Given the description of an element on the screen output the (x, y) to click on. 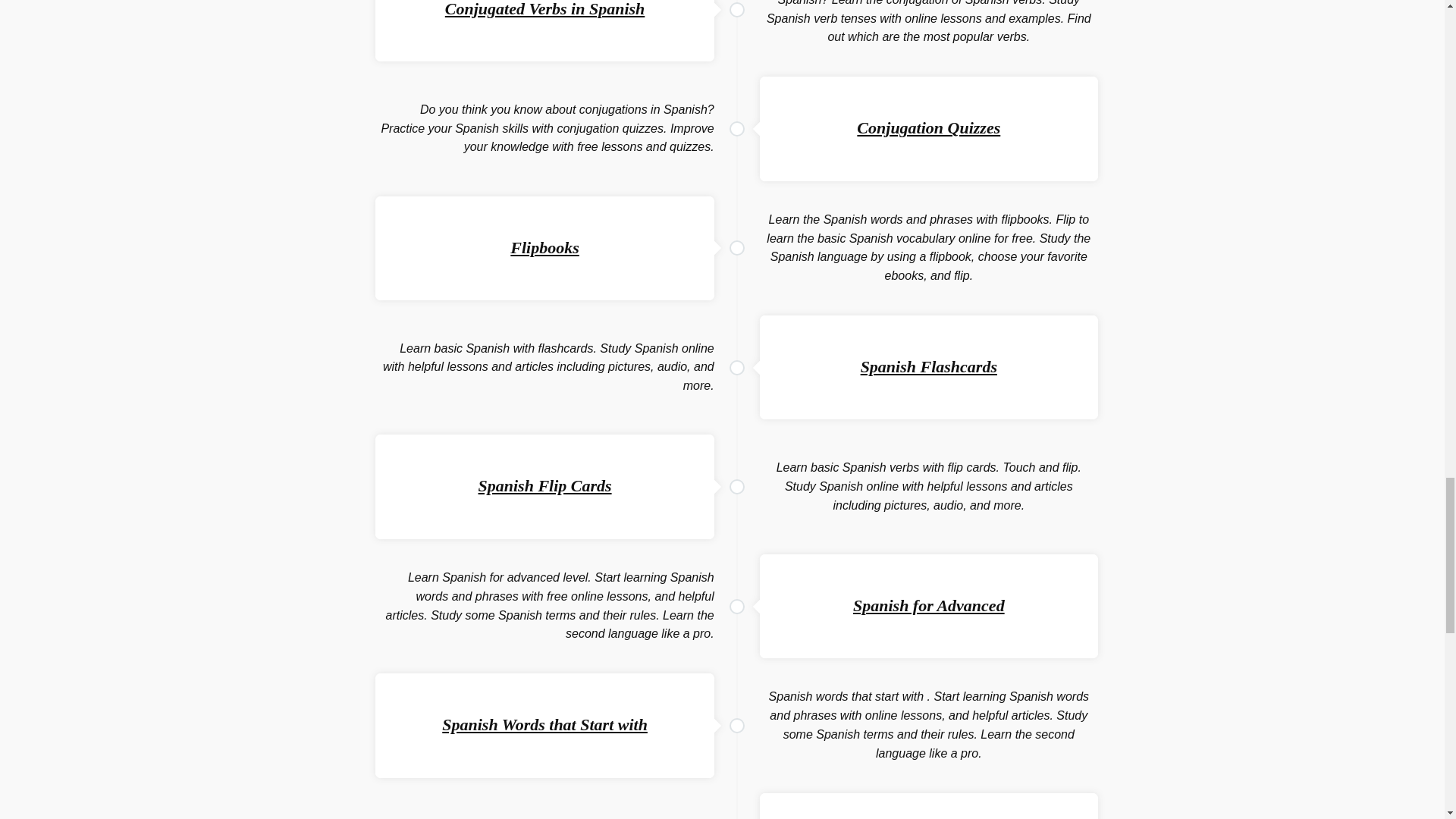
Conjugation Quizzes (928, 127)
Flipbooks (544, 247)
Conjugated Verbs in Spanish (545, 9)
Spanish Flip Cards (545, 485)
Spanish Flashcards (928, 366)
Spanish Words that Start with (544, 723)
Spanish for Advanced (928, 605)
